Given the description of an element on the screen output the (x, y) to click on. 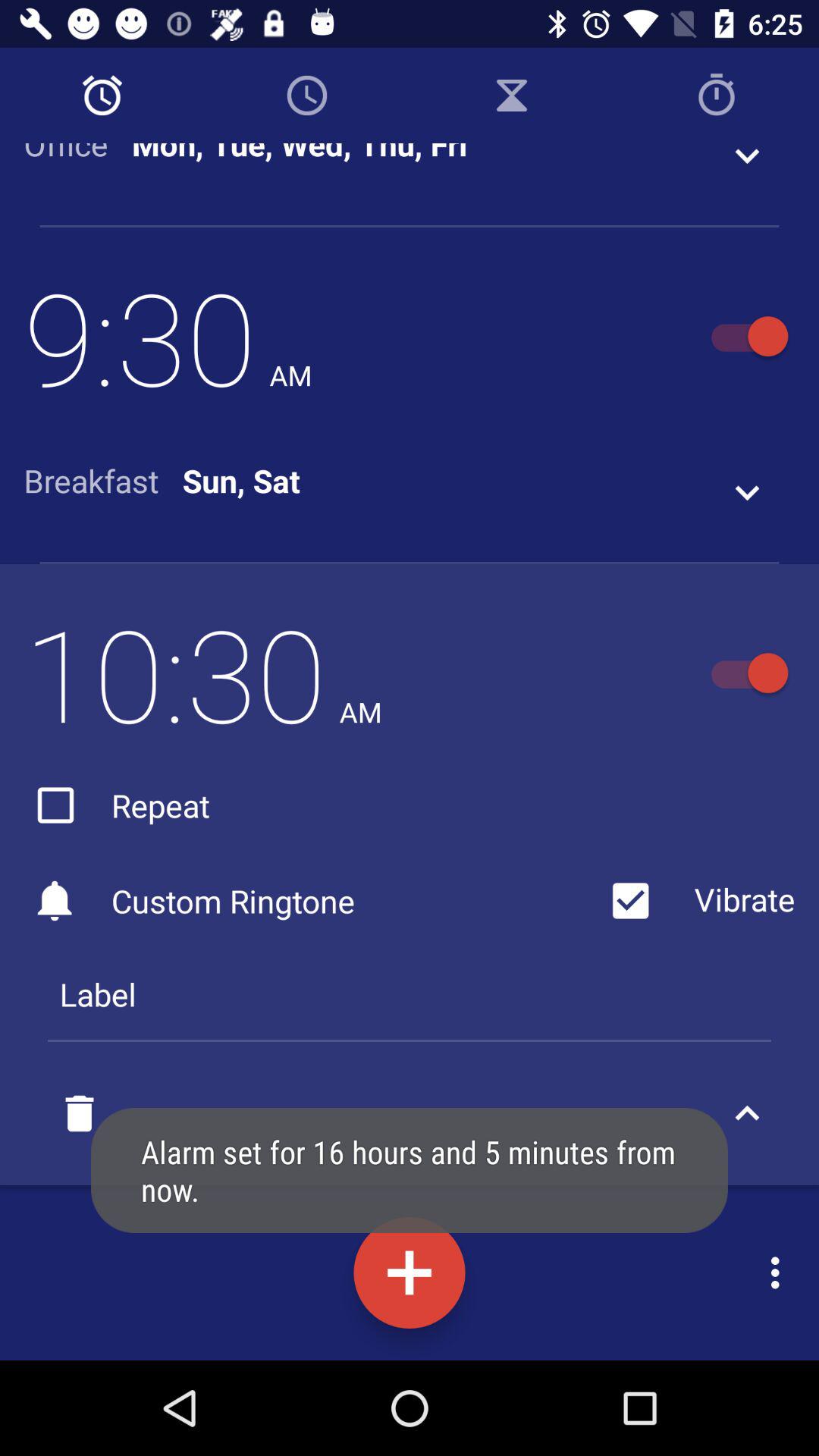
scroll to sun, sat icon (241, 480)
